Given the description of an element on the screen output the (x, y) to click on. 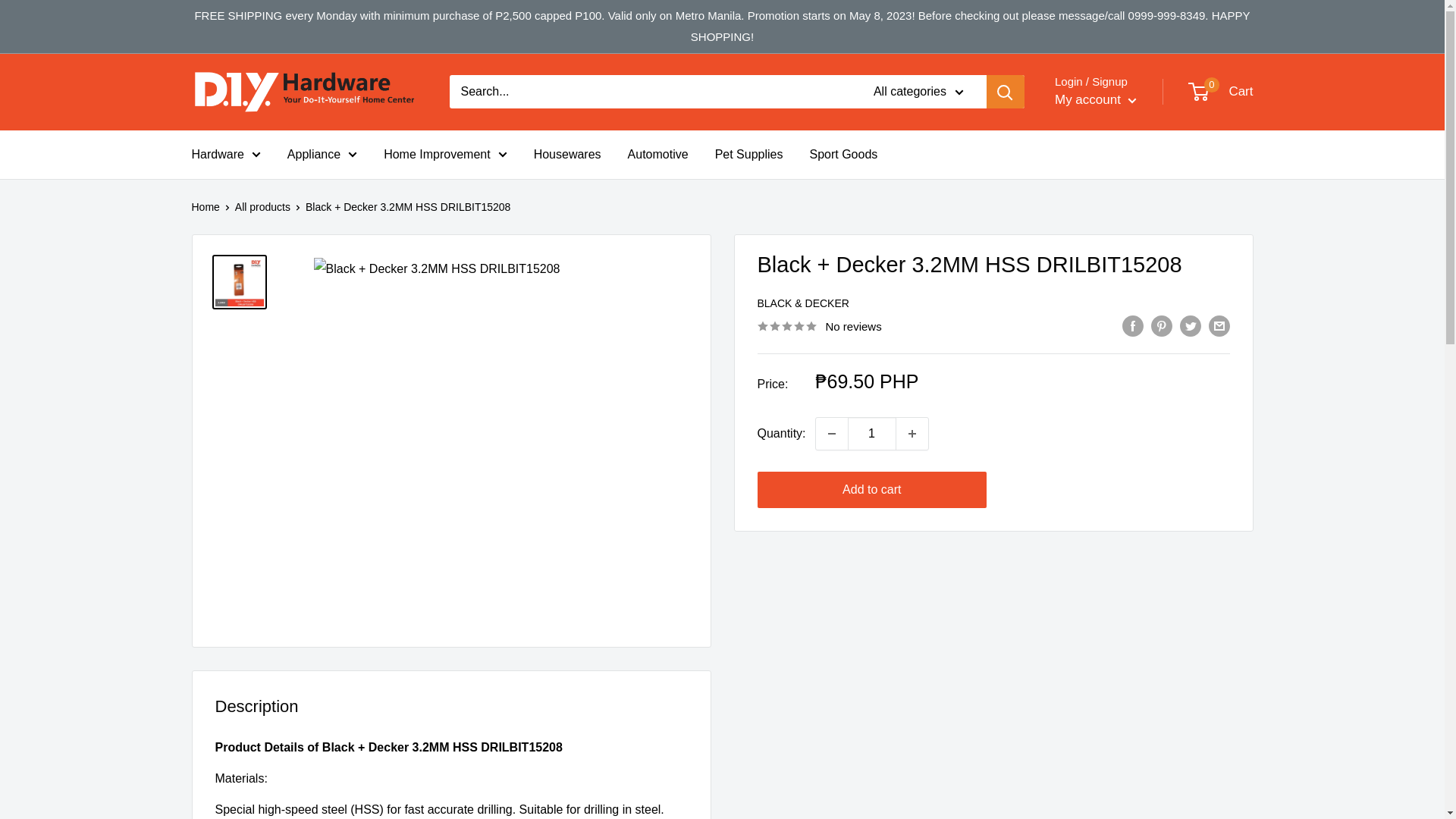
1 (871, 433)
DIY Hardware Online (304, 91)
Increase quantity by 1 (912, 433)
Decrease quantity by 1 (831, 433)
